Given the description of an element on the screen output the (x, y) to click on. 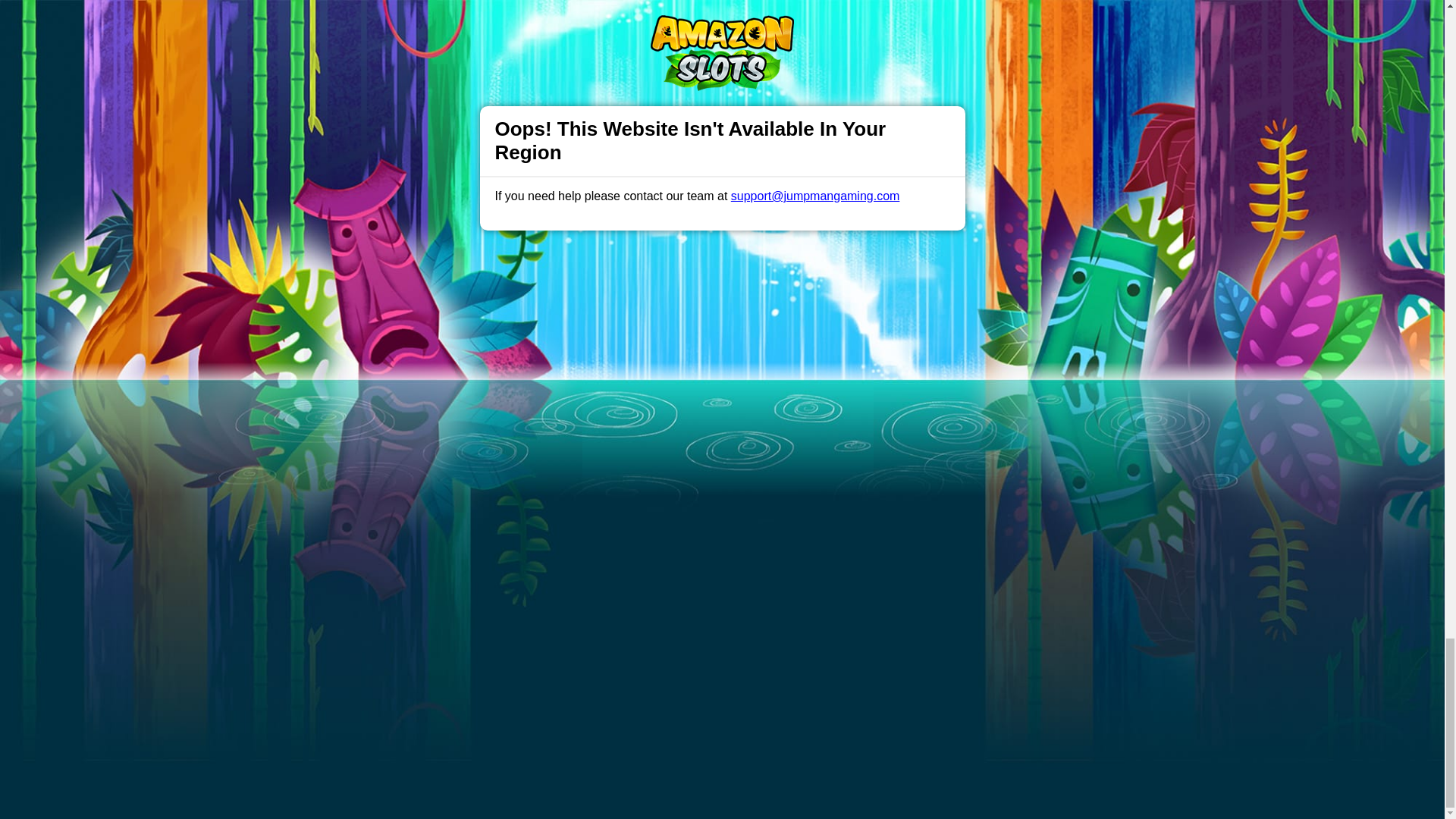
Chilli Heat Megaways (668, 20)
Gods Of Asgard Megaways (899, 20)
8 Tigers Gold Megaways (457, 50)
Buffalo King Megaways (673, 50)
Gonzo's Quest Megaways (896, 50)
5 Lions Megaways (443, 20)
5 Lions Megaways (443, 20)
